Given the description of an element on the screen output the (x, y) to click on. 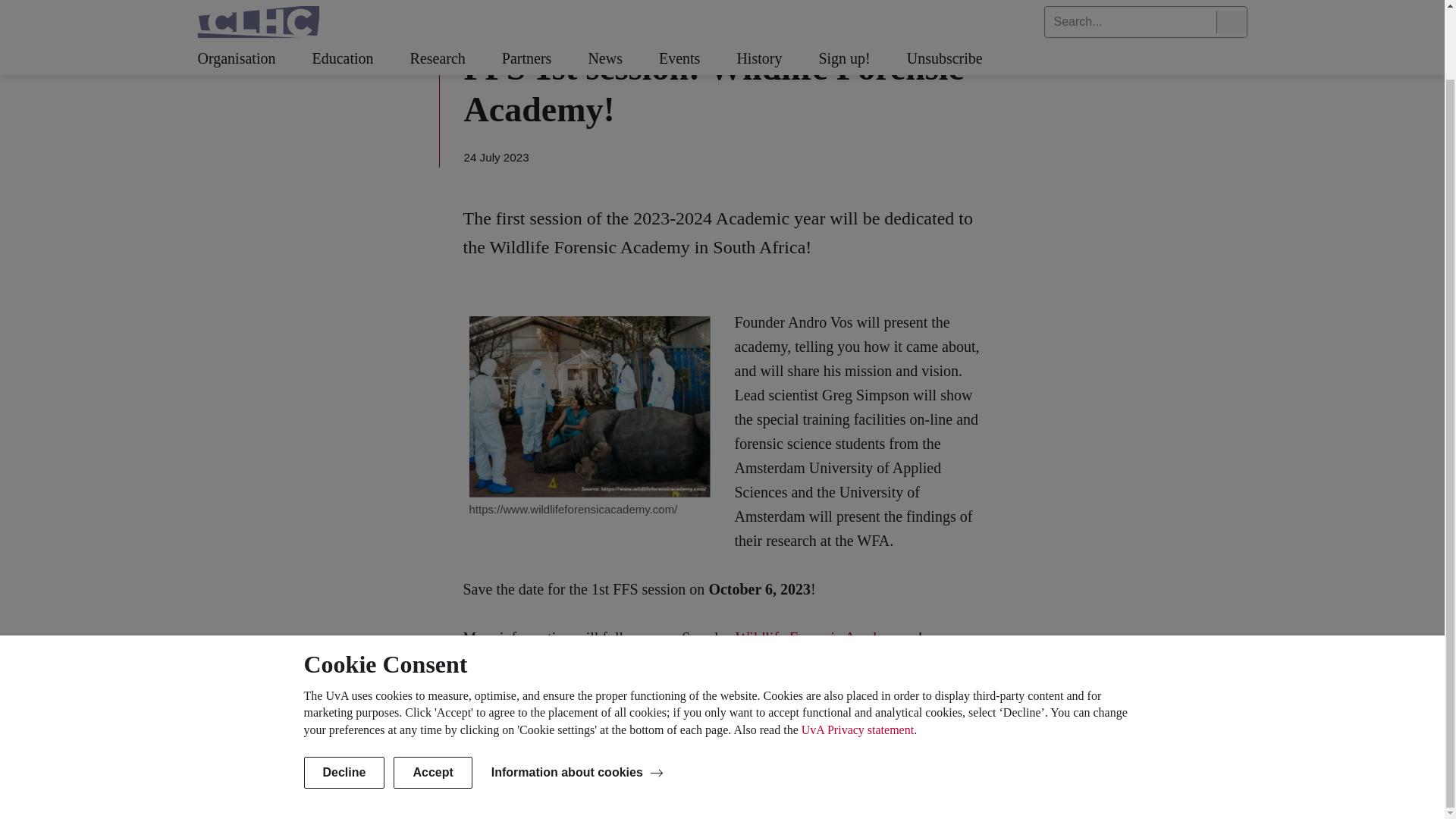
Privacy (397, 792)
About this site (334, 792)
